Given the description of an element on the screen output the (x, y) to click on. 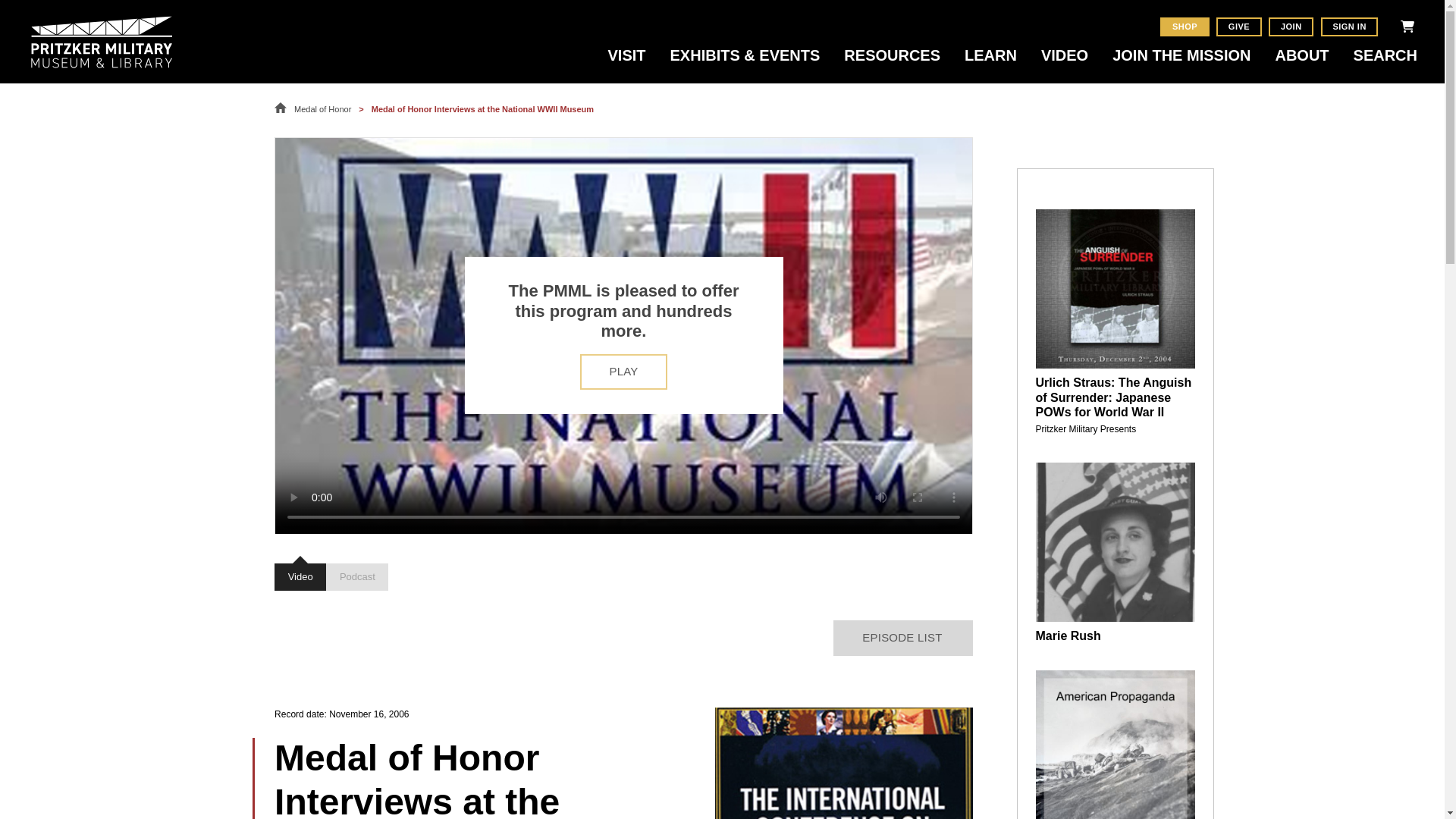
JOIN (1290, 26)
SHOP (1184, 26)
SIGN IN (1349, 26)
My Cart (1406, 26)
Resources provided by the PMML  (891, 63)
GIVE (1237, 26)
